Given the description of an element on the screen output the (x, y) to click on. 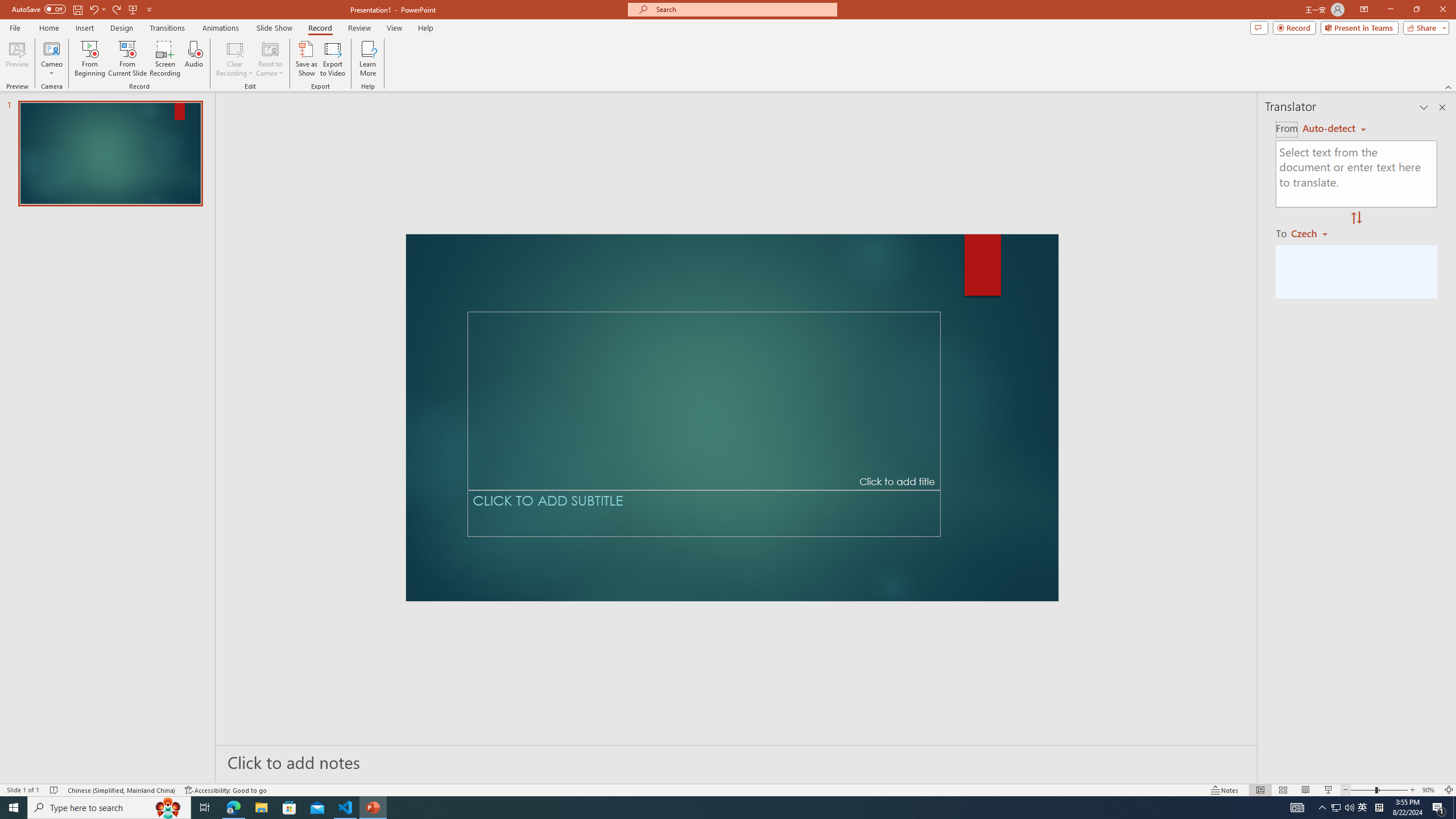
Reset to Cameo (269, 58)
Swap "from" and "to" languages. (1355, 218)
Slide Notes (737, 761)
Accessibility Checker Accessibility: Good to go (226, 790)
Clear Recording (234, 58)
Preview (17, 58)
